Given the description of an element on the screen output the (x, y) to click on. 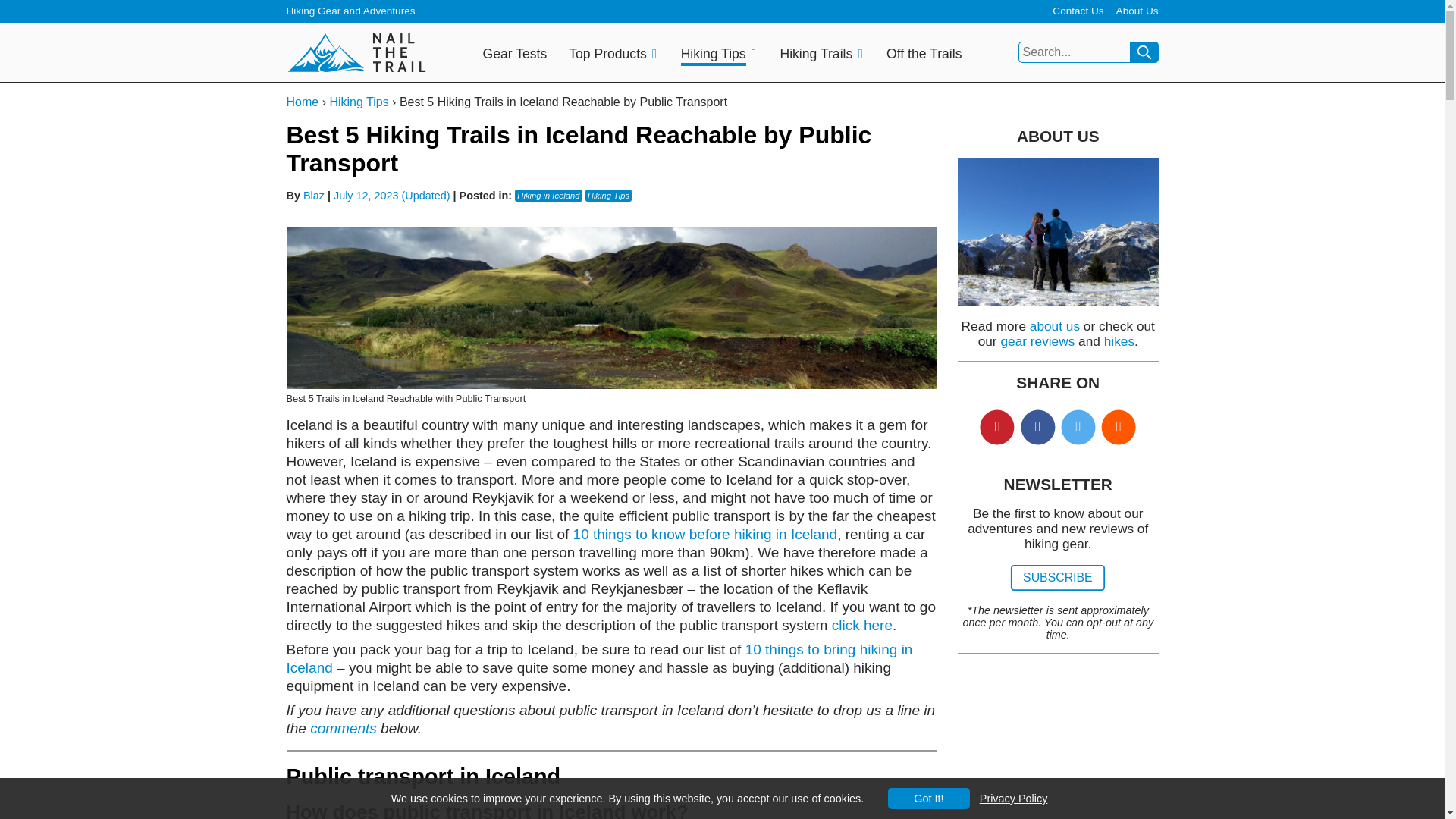
Hiking Trails (814, 55)
Off the Trails (923, 55)
Share on Facebook (1039, 429)
About Us (1137, 10)
Hiking Tips (713, 55)
Top Products (607, 55)
Share on Twitter (1080, 429)
Share on Pinterest (998, 429)
Share on Reddit (1121, 429)
Contact Us (1077, 10)
Gear Tests (515, 55)
